Given the description of an element on the screen output the (x, y) to click on. 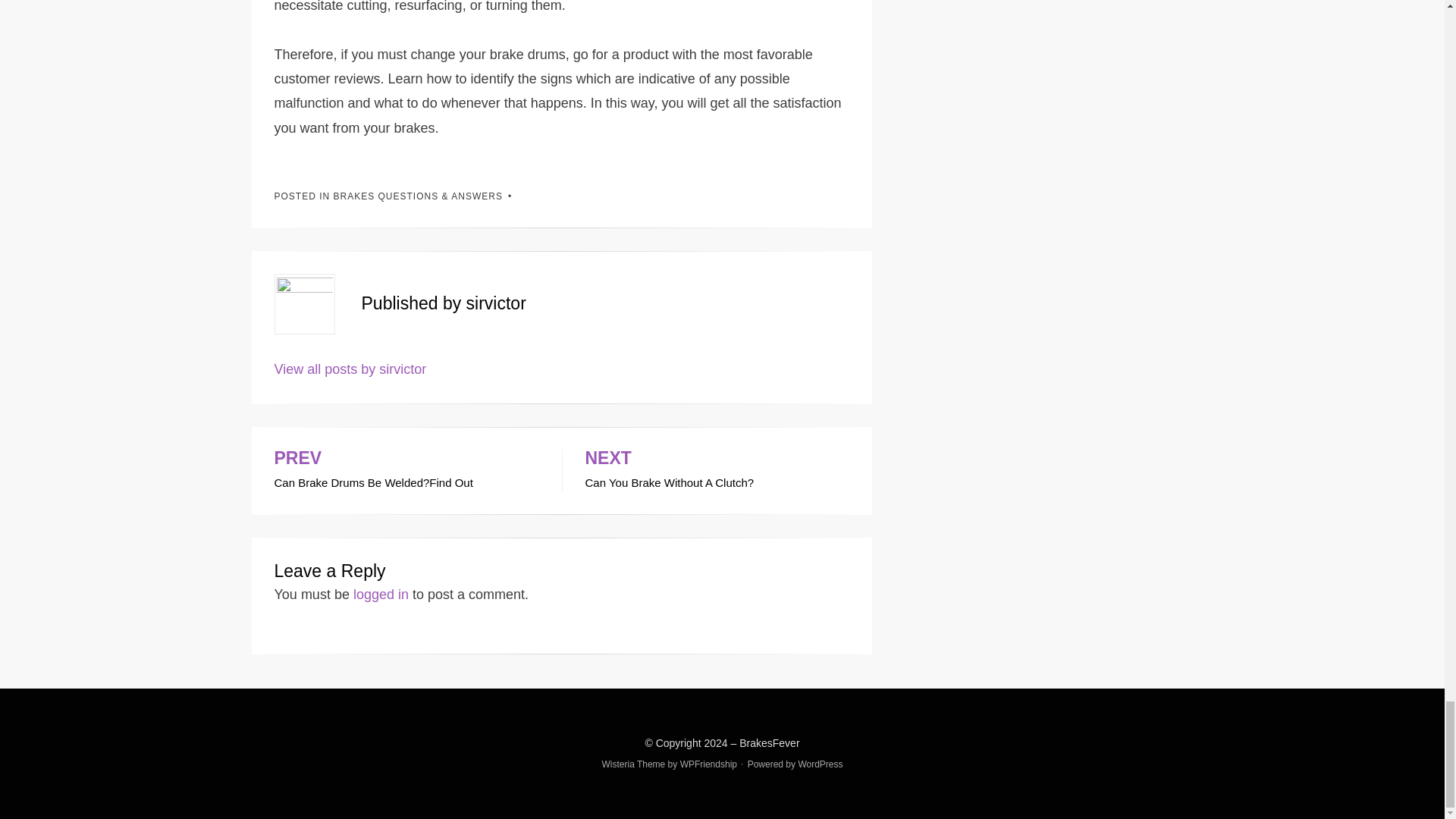
WPFriendship (406, 470)
View all posts by sirvictor (707, 764)
BrakesFever (350, 368)
WordPress (769, 743)
logged in (820, 764)
WPFriendship (716, 470)
